Given the description of an element on the screen output the (x, y) to click on. 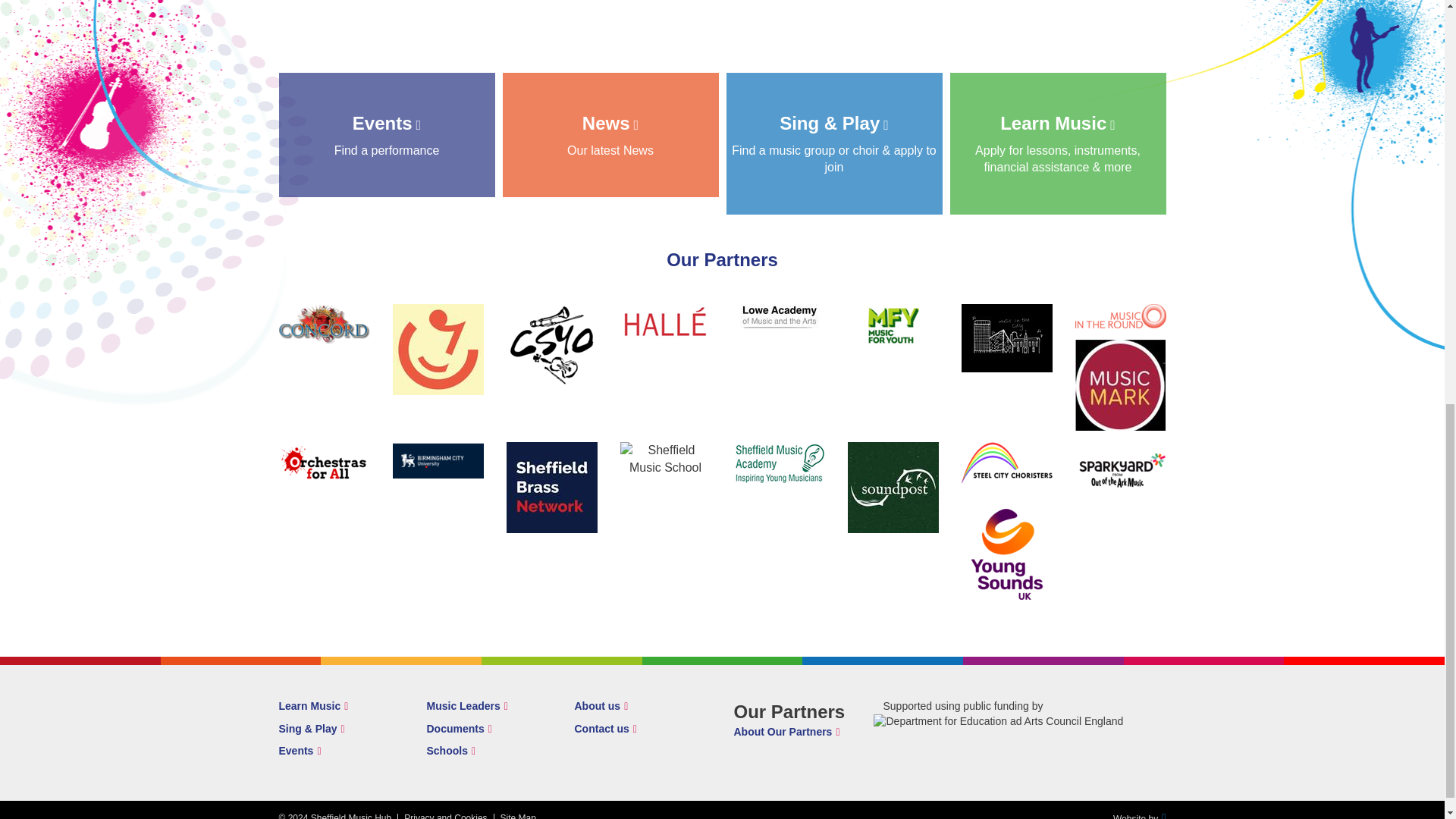
Schools (451, 750)
Music Leaders (466, 705)
About us (601, 705)
Documents (387, 134)
Contact us (459, 728)
Learn Music (609, 134)
Events (606, 728)
